Given the description of an element on the screen output the (x, y) to click on. 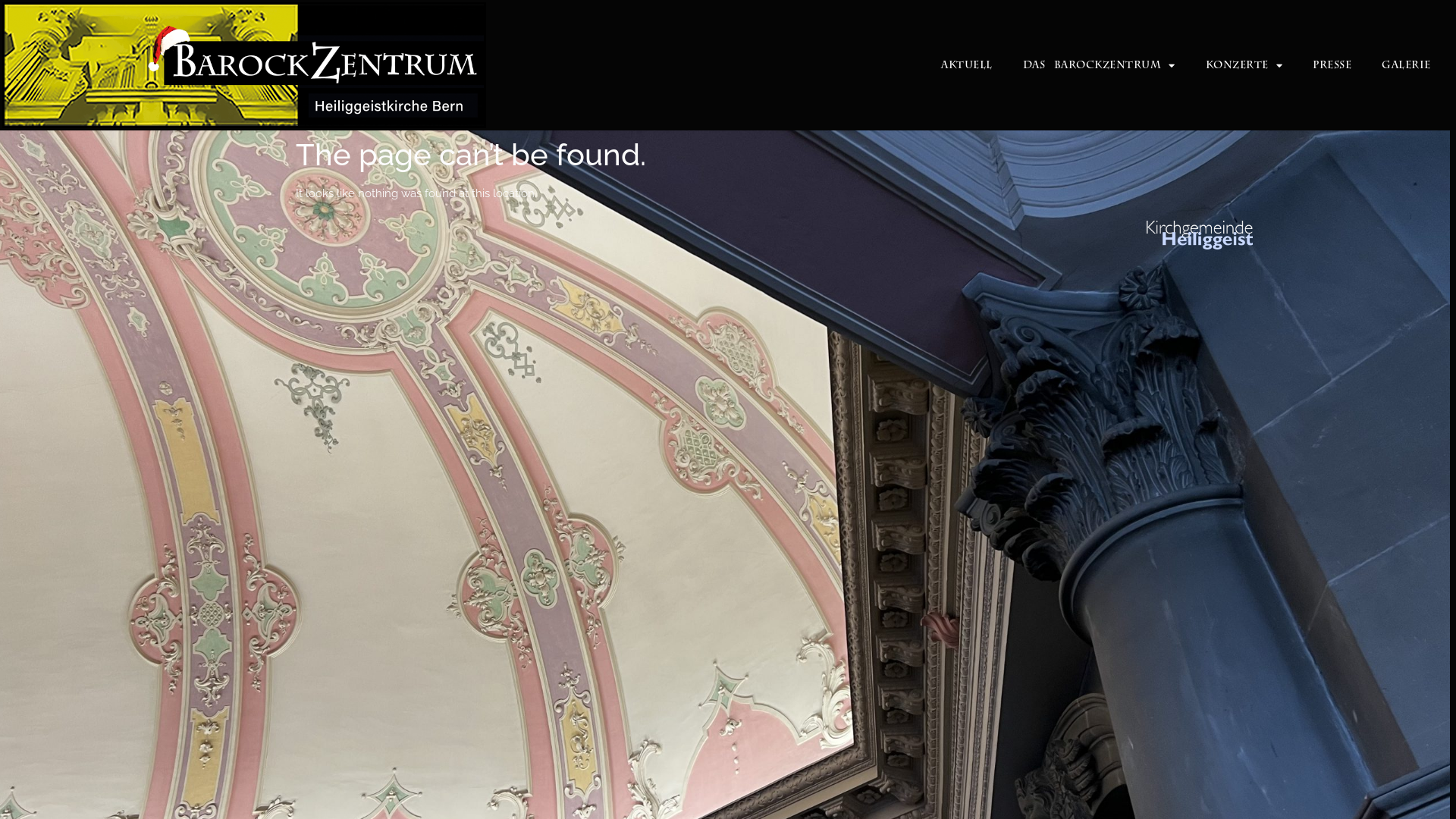
Presse Element type: text (1331, 64)
Aktuell Element type: text (966, 64)
Galerie Element type: text (1406, 64)
Konzerte Element type: text (1244, 64)
Das BarockZentrum Element type: text (1098, 64)
